Given the description of an element on the screen output the (x, y) to click on. 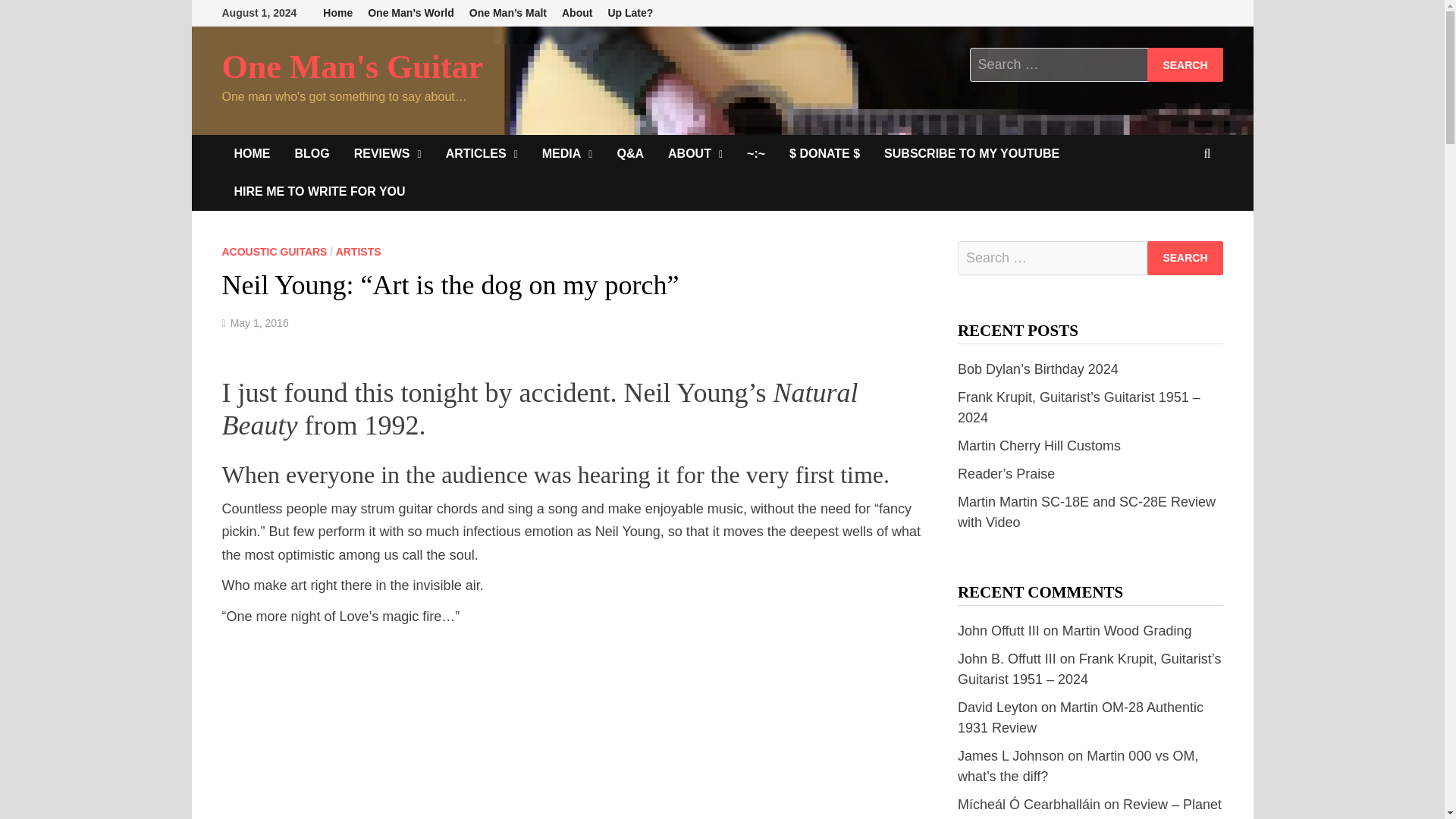
Search (1185, 64)
Home (337, 13)
Search (1185, 64)
Search (1185, 257)
One Man's Guitar (352, 66)
BLOG (311, 153)
Search (1185, 64)
REVIEWS (387, 153)
Home Page (251, 153)
About (576, 13)
HOME (251, 153)
Search (1185, 257)
The Word on Guitars (311, 153)
Up Late? (630, 13)
